Given the description of an element on the screen output the (x, y) to click on. 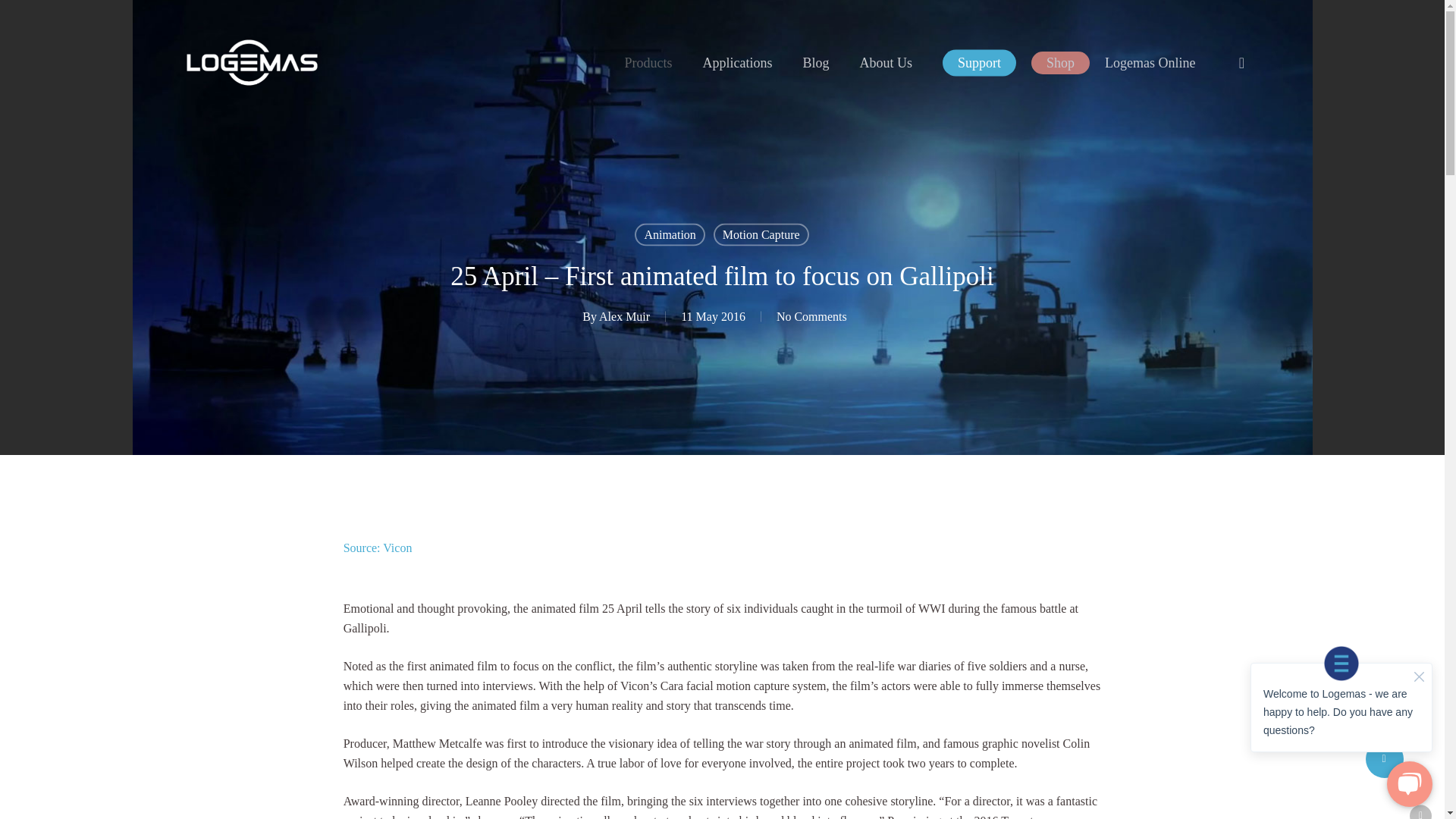
Applications (737, 62)
Support (979, 62)
Source: Vicon (377, 547)
Logemas Online (1149, 62)
Alex Muir (623, 315)
Posts by Alex Muir (623, 315)
Chat Widget (1341, 725)
Blog (815, 62)
Motion Capture (761, 233)
Shop (1059, 62)
Animation (669, 233)
About Us (885, 62)
Products (647, 62)
No Comments (811, 315)
